Given the description of an element on the screen output the (x, y) to click on. 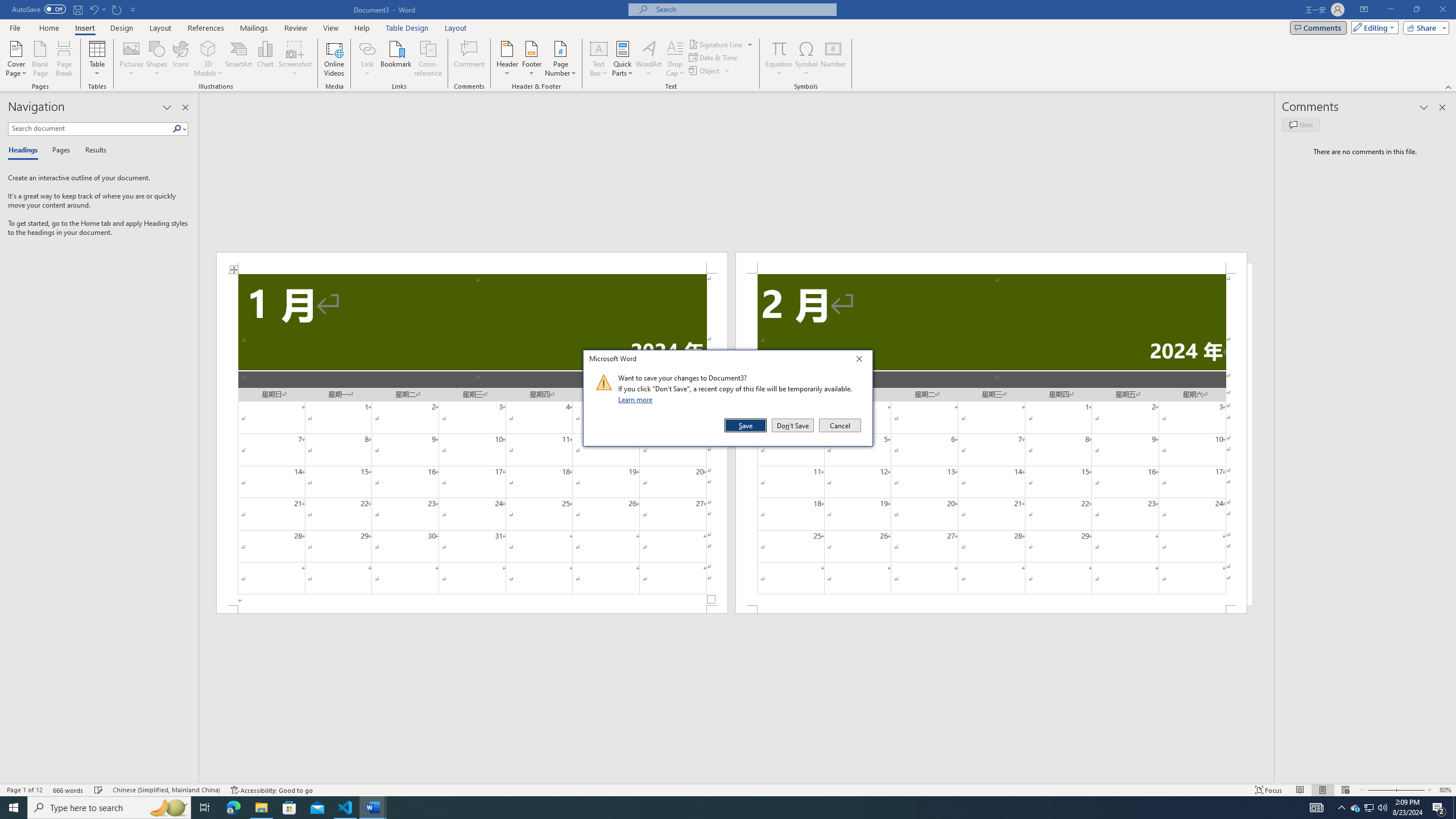
Header -Section 2- (991, 263)
Equation (778, 48)
Page Number Page 1 of 12 (24, 790)
Link (367, 48)
Action Center, 2 new notifications (1439, 807)
Page Number (560, 58)
Link (367, 58)
Icons (180, 58)
